Given the description of an element on the screen output the (x, y) to click on. 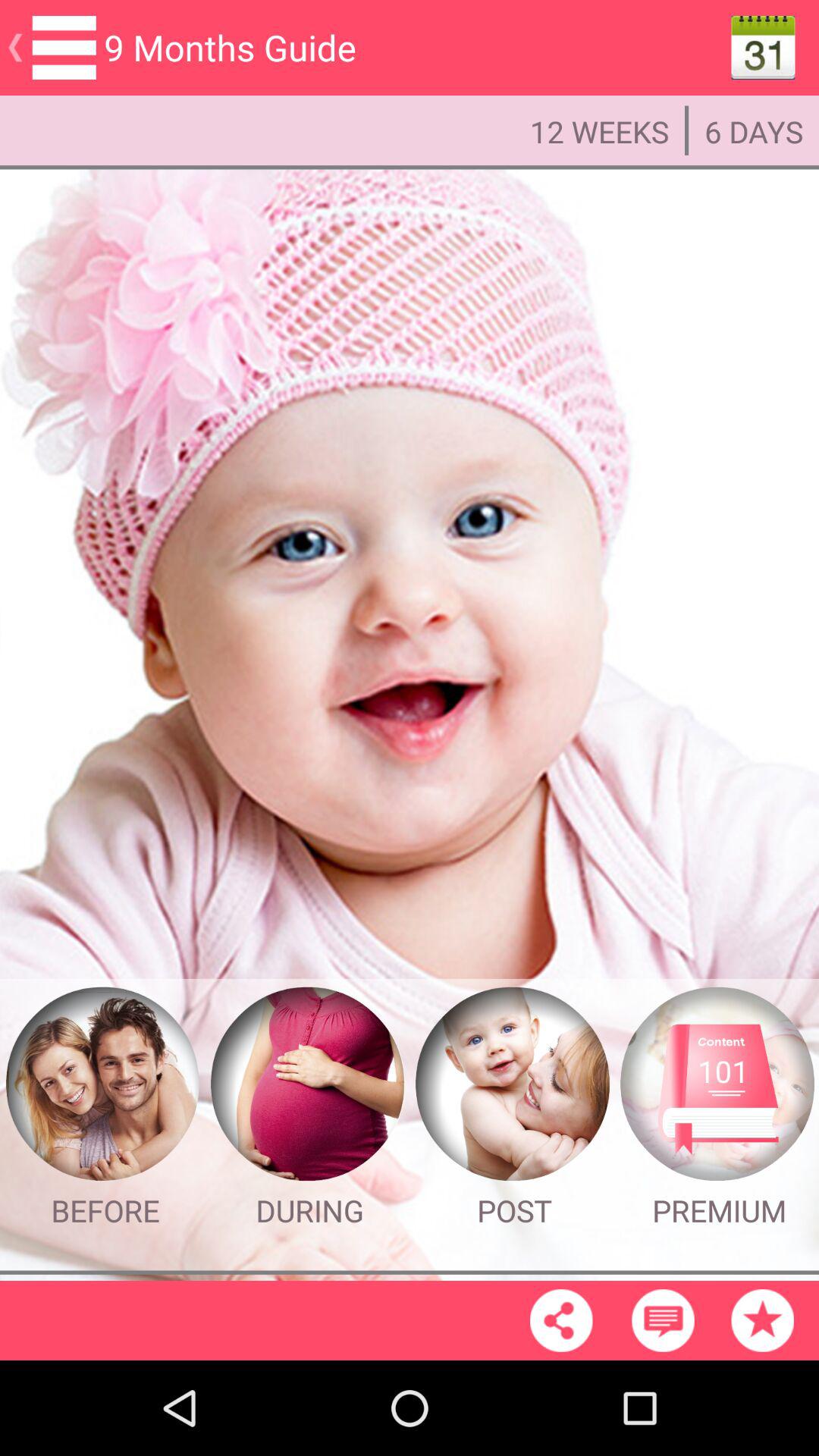
share the page (561, 1320)
